Given the description of an element on the screen output the (x, y) to click on. 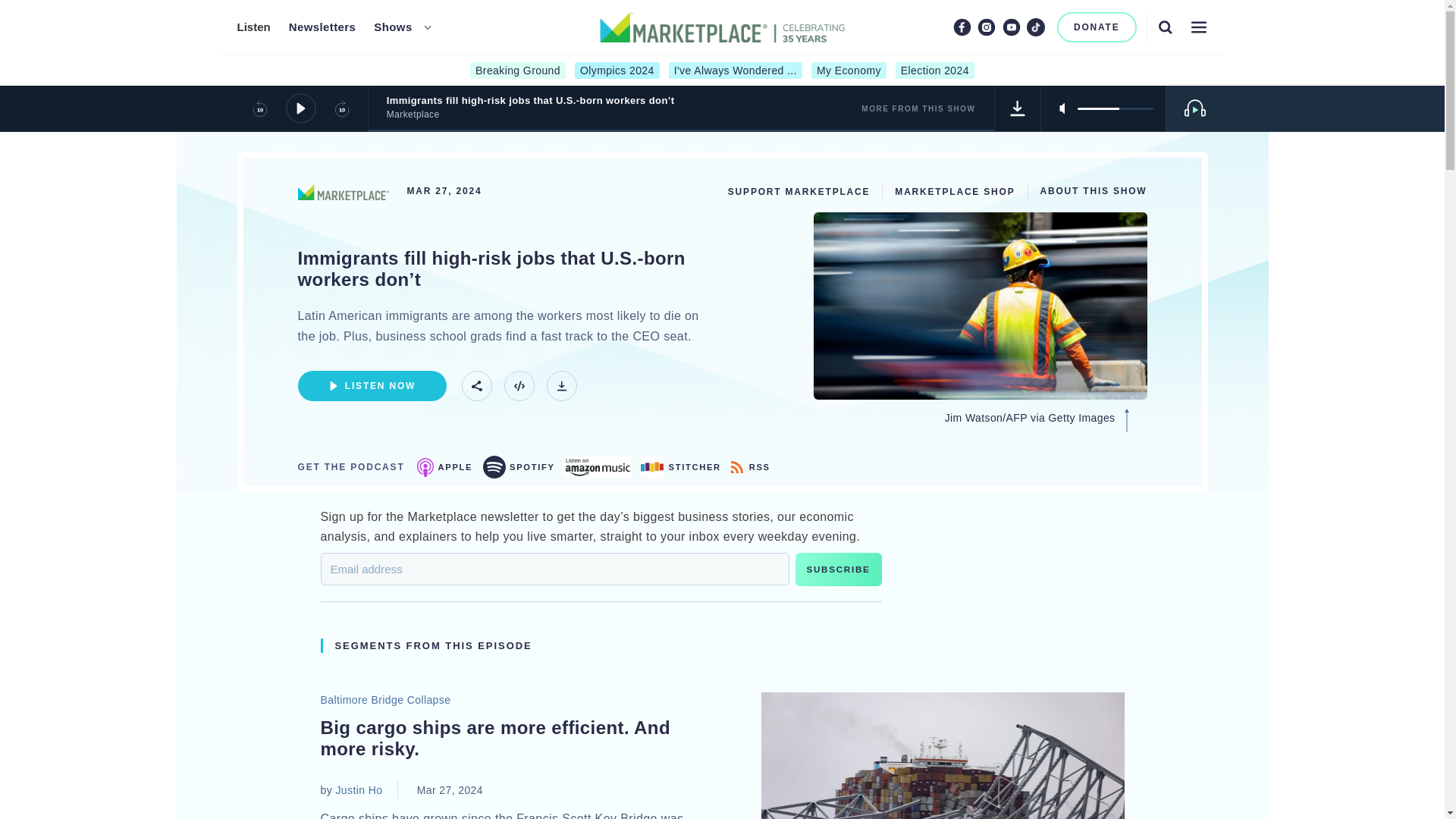
Newsletters (322, 27)
TikTok (1035, 27)
Facebook (962, 27)
Shows (393, 26)
Download Track (1017, 108)
Listen (252, 26)
Youtube (1011, 27)
Download Track (561, 386)
5 (1115, 108)
